Given the description of an element on the screen output the (x, y) to click on. 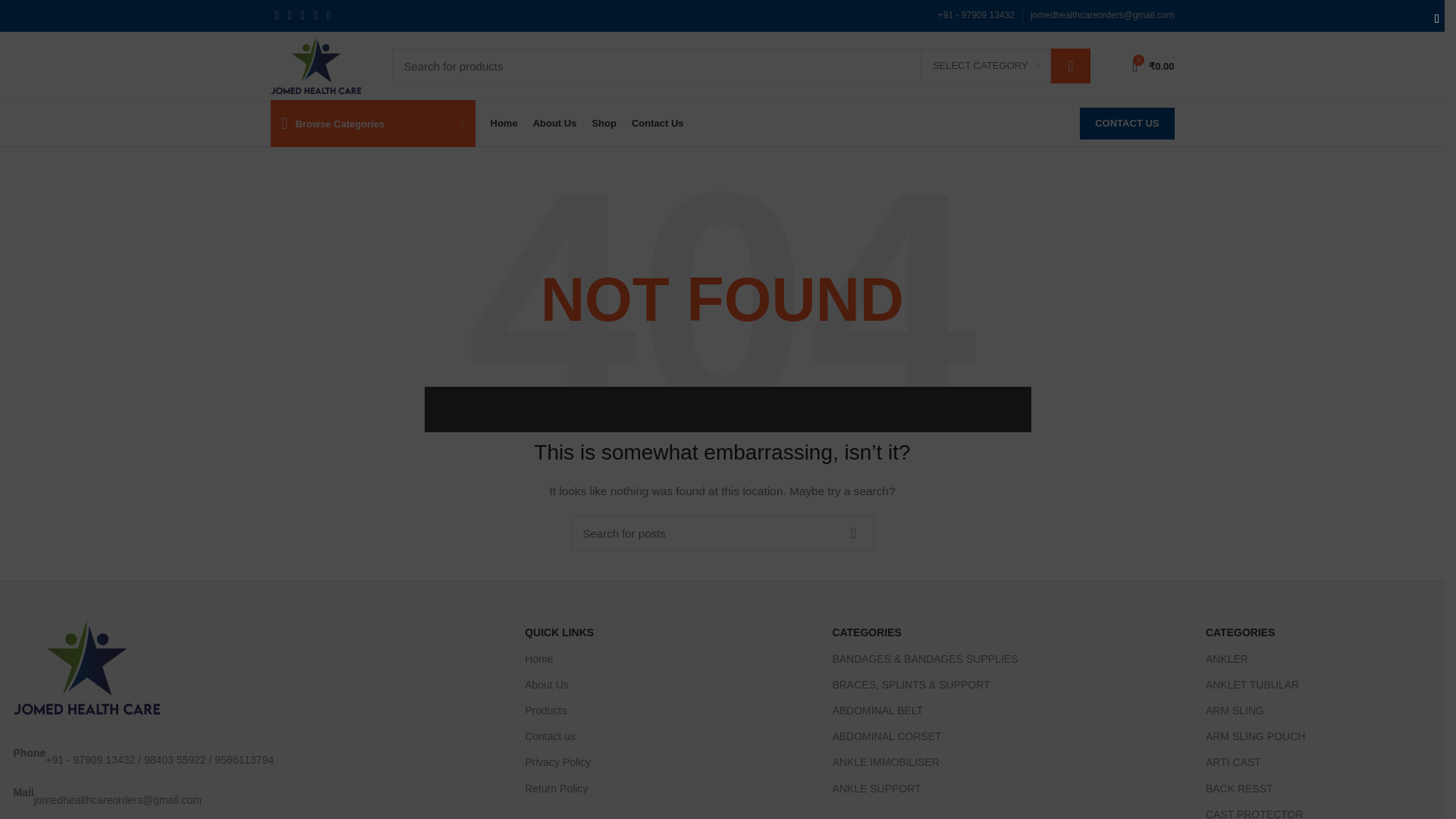
SELECT CATEGORY (985, 65)
Shopping cart (1153, 65)
SELECT CATEGORY (985, 65)
Search for products (740, 65)
Search for posts (721, 532)
